Given the description of an element on the screen output the (x, y) to click on. 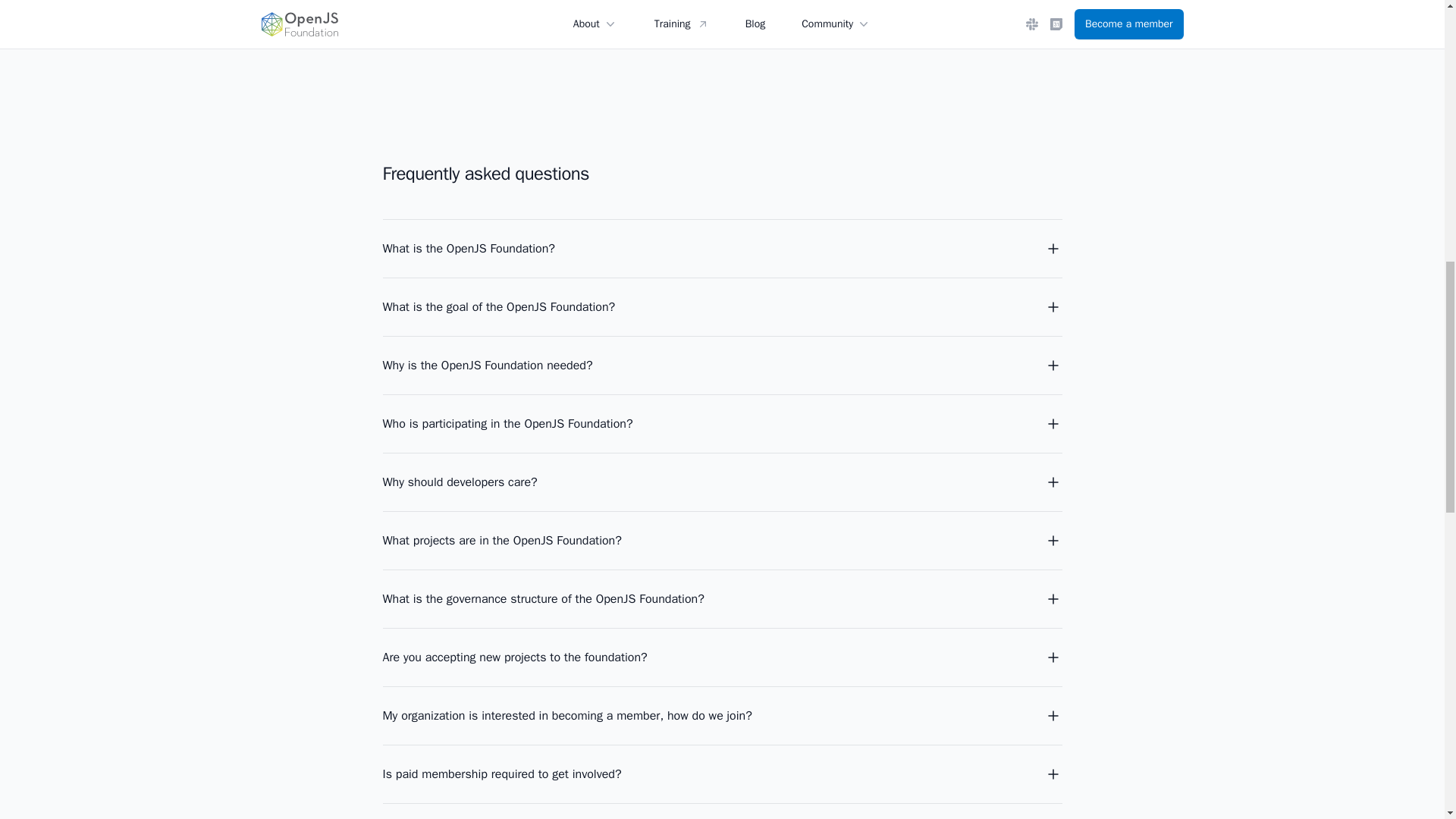
Is paid membership required to get involved? (721, 773)
Why is the OpenJS Foundation needed? (721, 364)
Who is participating in the OpenJS Foundation? (721, 423)
What is the goal of the OpenJS Foundation? (721, 306)
What is the OpenJS Foundation? (721, 248)
Why should developers care? (721, 482)
What projects are in the OpenJS Foundation? (721, 540)
Are you accepting new projects to the foundation? (721, 657)
What is the governance structure of the OpenJS Foundation? (721, 598)
